Given the description of an element on the screen output the (x, y) to click on. 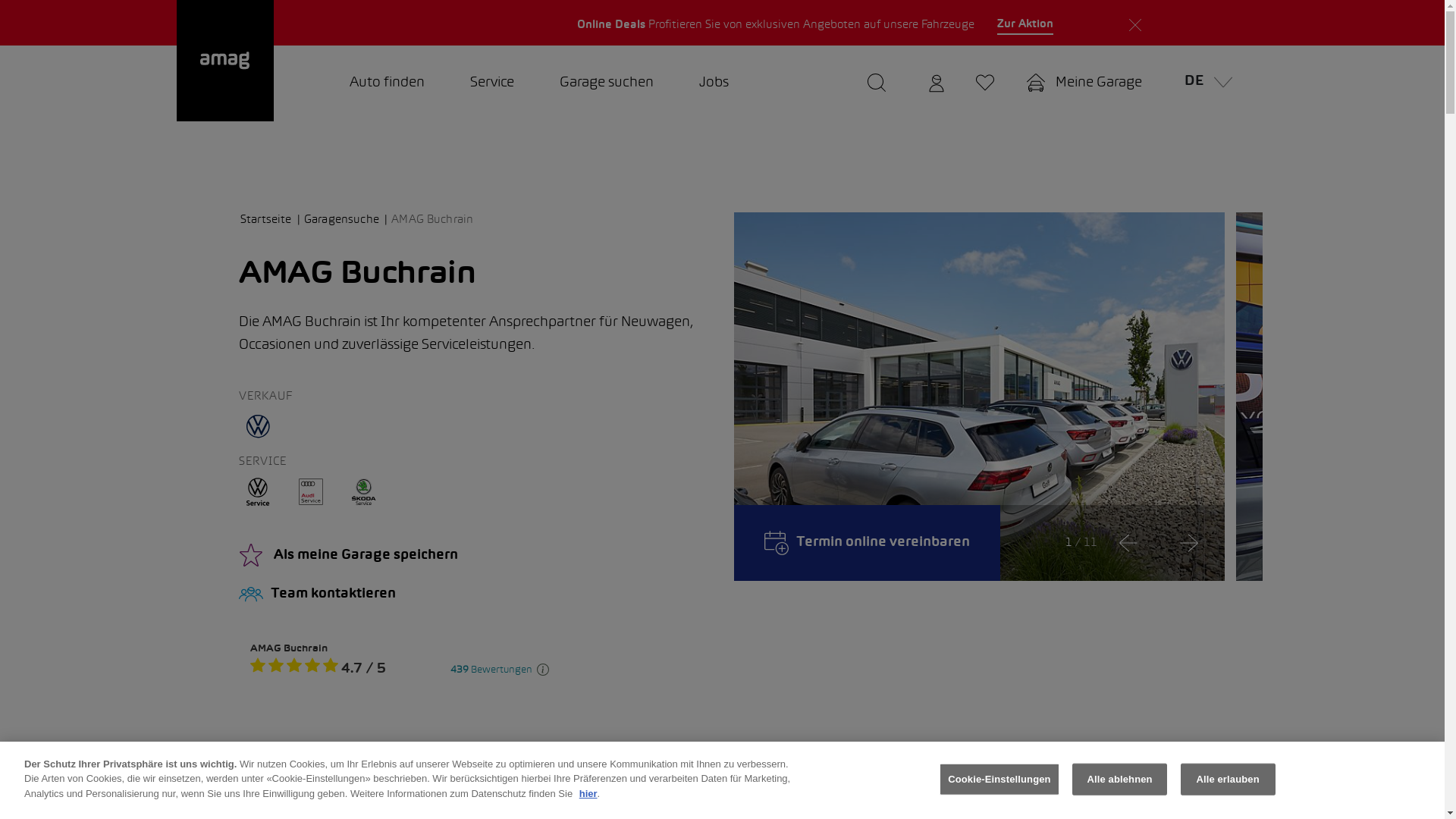
Team kontaktieren Element type: text (474, 594)
Alle ablehnen Element type: text (1119, 779)
Cookie-Einstellungen Element type: text (999, 779)
Alle erlauben Element type: text (1227, 779)
Meine Garage Element type: text (1083, 83)
Startseite Element type: text (270, 219)
Service Element type: text (491, 83)
Termin online vereinbaren Element type: text (867, 542)
DE Element type: text (1203, 83)
NR. 1 IN DER SCHWEIZ mit 85 Standorten Element type: text (1053, 22)
Jobs Element type: text (713, 83)
SCHNELL UND ONLINE Wir kaufen Ihr Auto Element type: text (398, 22)
Zur Aktion Element type: text (1025, 24)
Garagensuche Element type: text (345, 219)
hier Element type: text (588, 793)
Garage suchen Element type: text (606, 83)
Auto finden Element type: text (386, 83)
